Given the description of an element on the screen output the (x, y) to click on. 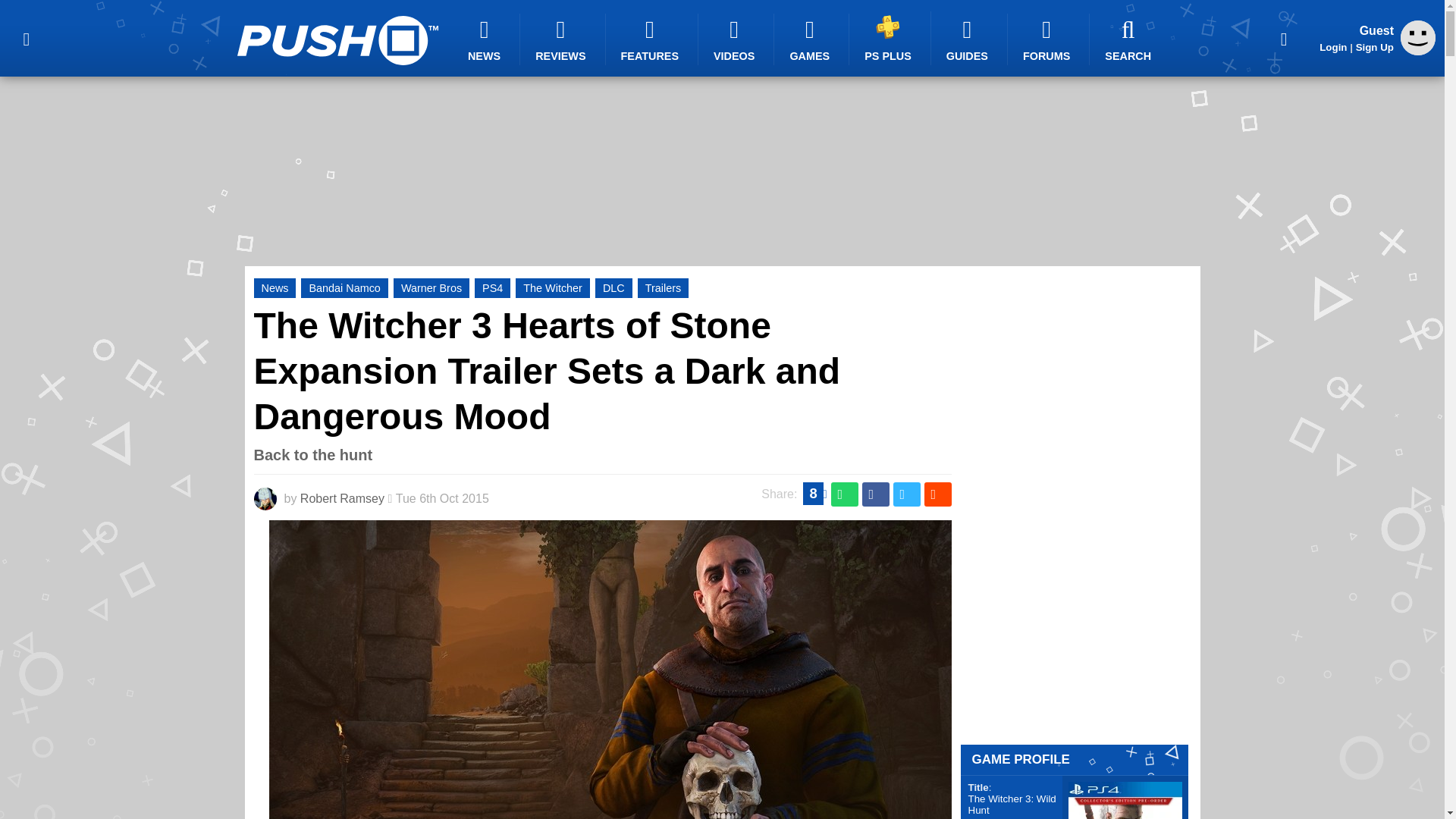
Menu (26, 37)
Trailers (662, 288)
Guest (1417, 37)
News (274, 288)
FORUMS (1048, 39)
VIDEOS (736, 39)
FEATURES (651, 39)
Sign Up (1374, 47)
Share this on WhatsApp (845, 494)
Share this on Reddit (936, 494)
The Witcher (552, 288)
GUIDES (969, 39)
Share this on Twitter (906, 494)
Bandai Namco (344, 288)
Guest (1417, 51)
